Given the description of an element on the screen output the (x, y) to click on. 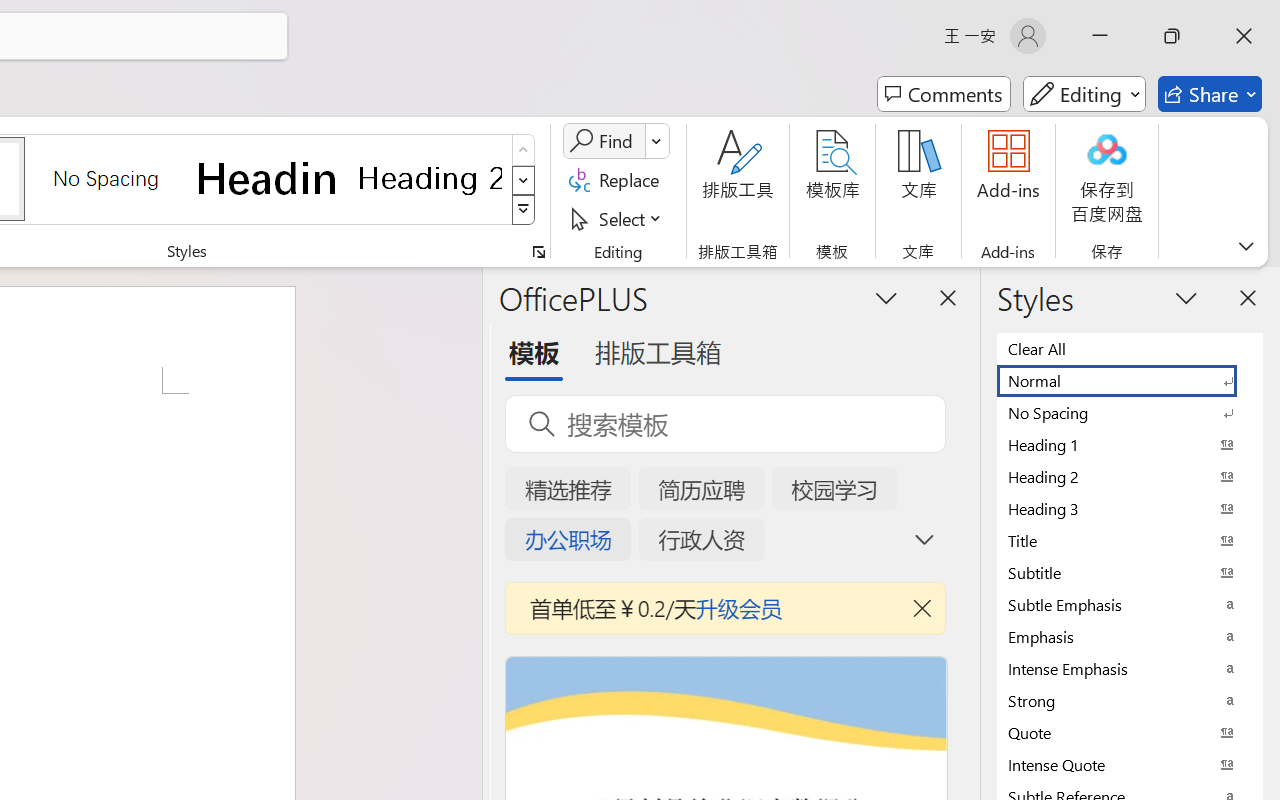
Title (1130, 540)
Row Down (523, 180)
No Spacing (1130, 412)
Subtitle (1130, 572)
Normal (1130, 380)
Intense Quote (1130, 764)
Replace... (617, 179)
Intense Emphasis (1130, 668)
